Given the description of an element on the screen output the (x, y) to click on. 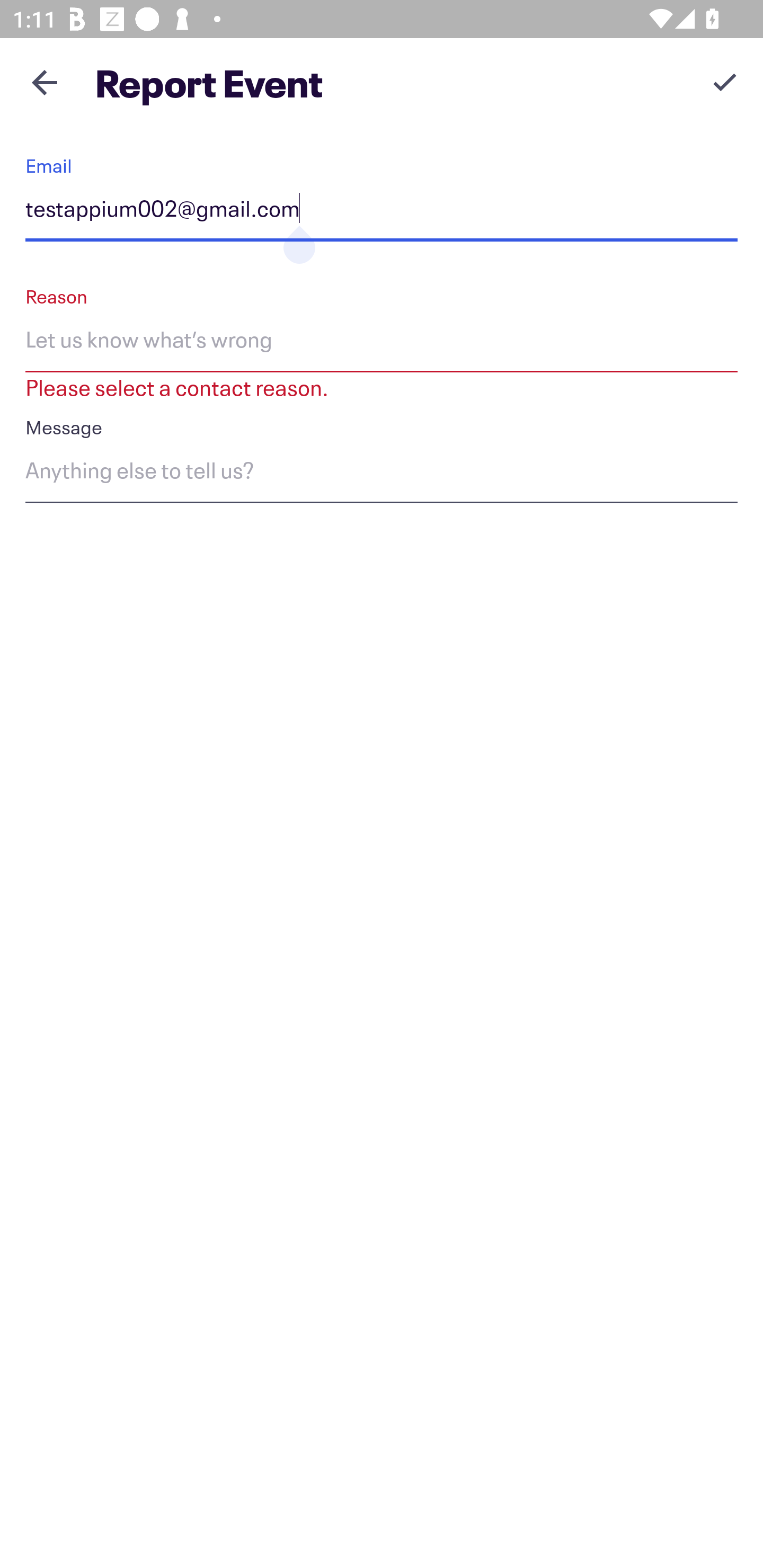
Navigate up (44, 82)
Save (724, 81)
testappium002@gmail.com (381, 211)
Let us know what’s wrong (381, 342)
Anything else to tell us? (381, 473)
